Given the description of an element on the screen output the (x, y) to click on. 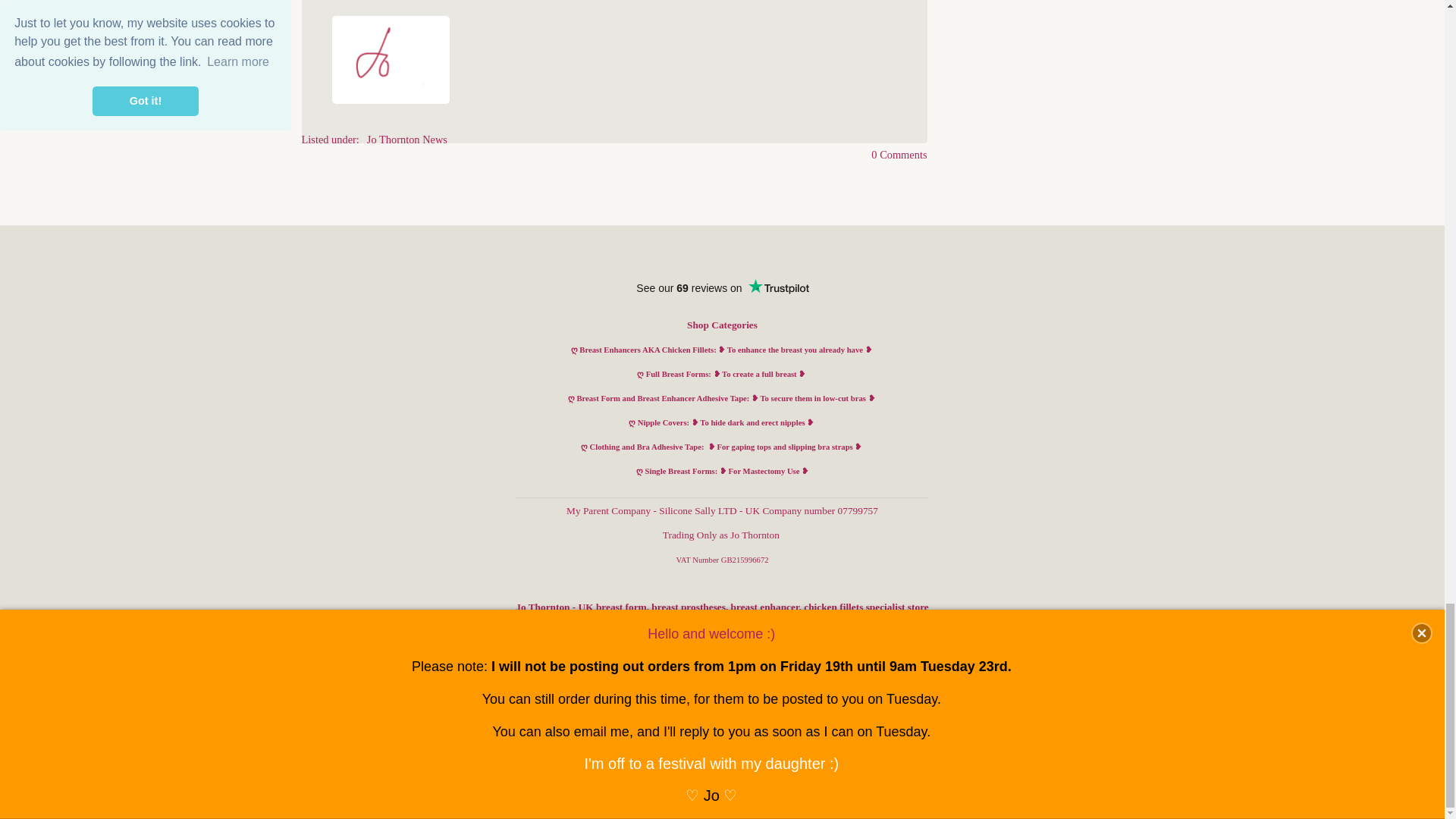
Customer reviews powered by Trustpilot (721, 288)
sign-2014-8-20-15.2.46 (390, 59)
Jo Thornton Full Breast Forms (721, 374)
Jo Thornton Breast Enhancers (716, 349)
Jo Thornton Nipple Covers (720, 422)
facebook (1000, 663)
Companies House information on Silicone Sally LTD (723, 510)
Single Breast Prosthesis For Mastectomy Use (722, 470)
Jo Thornton Clothes and Bra Adhesive Tape (720, 447)
